Given the description of an element on the screen output the (x, y) to click on. 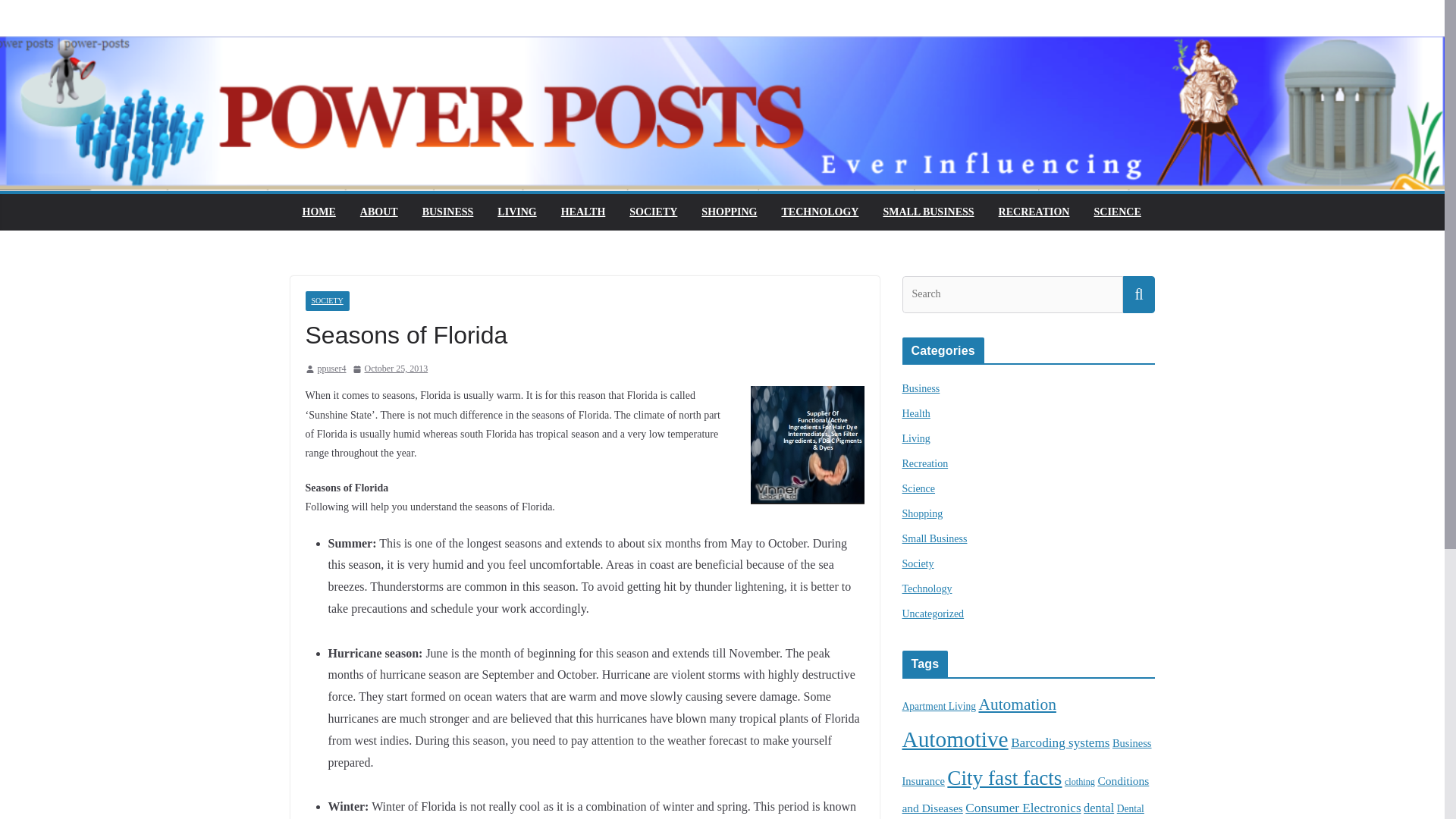
ABOUT (378, 211)
Science (919, 488)
SMALL BUSINESS (928, 211)
clothing (1079, 781)
SOCIETY (652, 211)
Uncategorized (932, 613)
SOCIETY (326, 301)
SHOPPING (729, 211)
Health (916, 413)
SCIENCE (1116, 211)
LIVING (516, 211)
Shopping (922, 513)
Conditions and Diseases (1026, 793)
Small Business (935, 538)
dental (1098, 807)
